Given the description of an element on the screen output the (x, y) to click on. 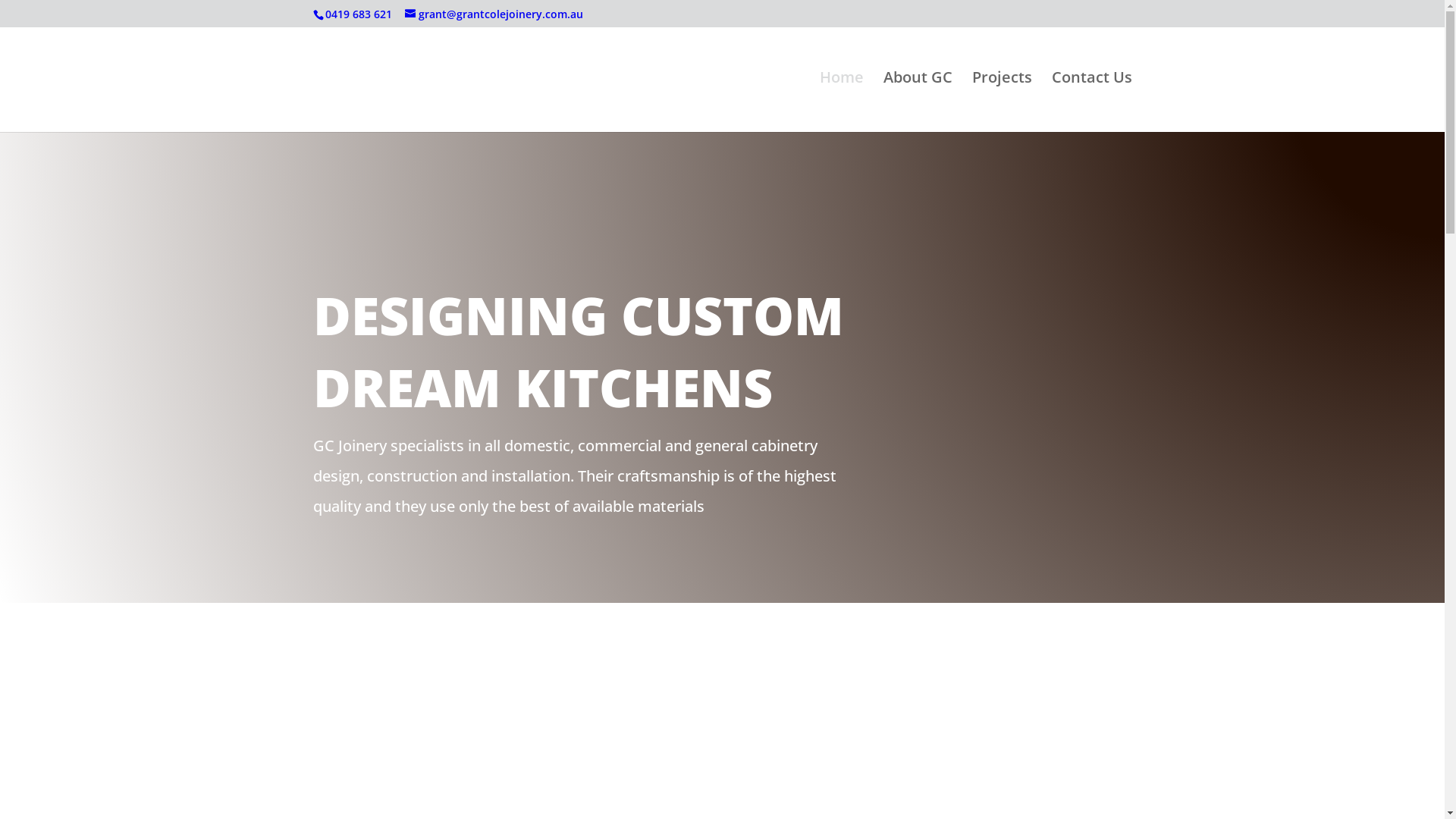
Projects Element type: text (1002, 101)
Home Element type: text (840, 101)
About GC Element type: text (916, 101)
Contact Us Element type: text (1091, 101)
grant@grantcolejoinery.com.au Element type: text (493, 13)
